Given the description of an element on the screen output the (x, y) to click on. 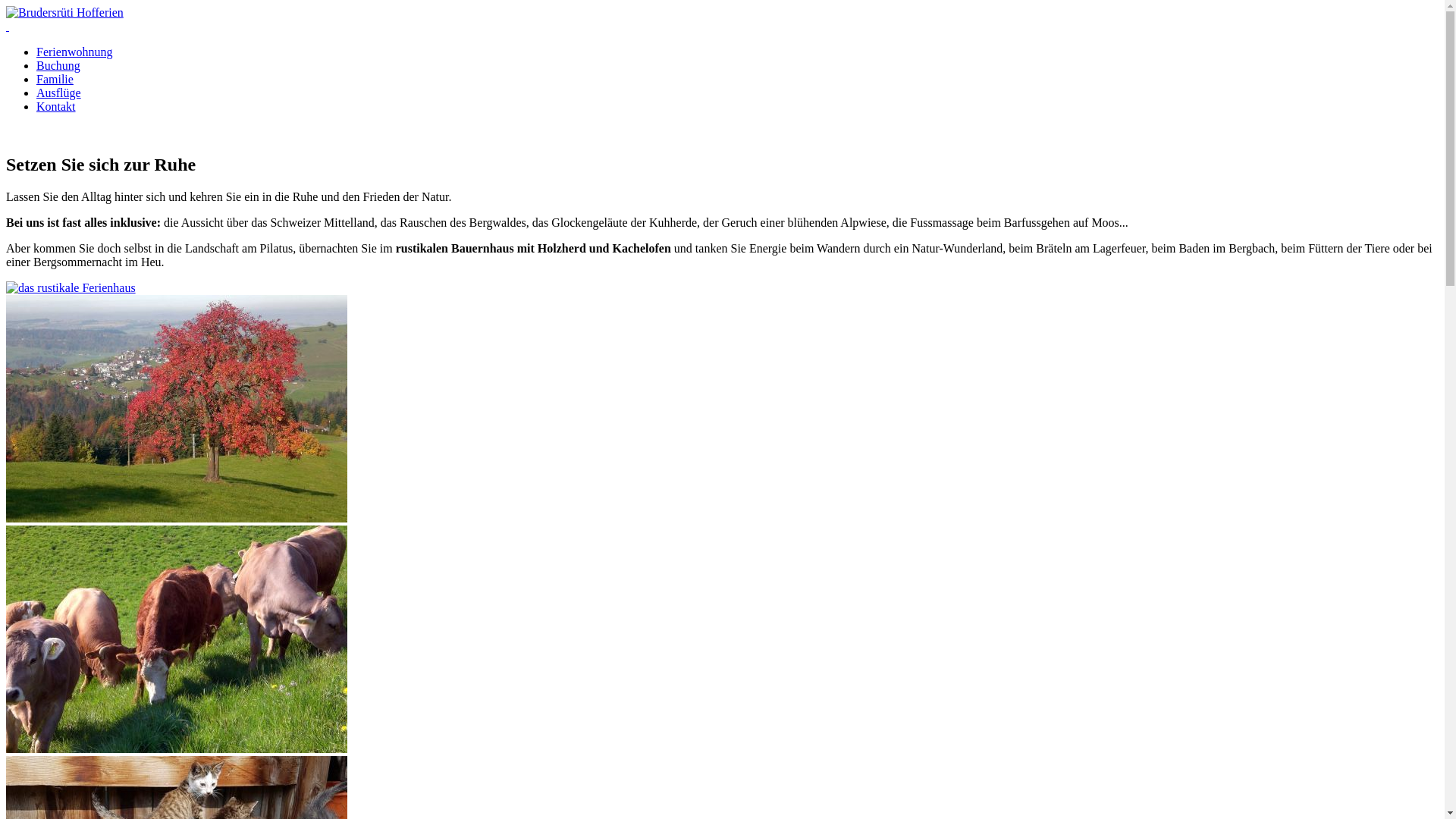
das rustikale Ferienhaus Element type: hover (722, 287)
Kontakt Element type: text (55, 106)
Aussicht auf das Dorf Schwarzenberg Element type: hover (722, 409)
  Element type: text (7, 25)
Buchung Element type: text (58, 65)
Ferienwohnung Element type: text (74, 51)
Familie Element type: text (54, 78)
unsere Mutterkuhherde Element type: hover (722, 640)
